Given the description of an element on the screen output the (x, y) to click on. 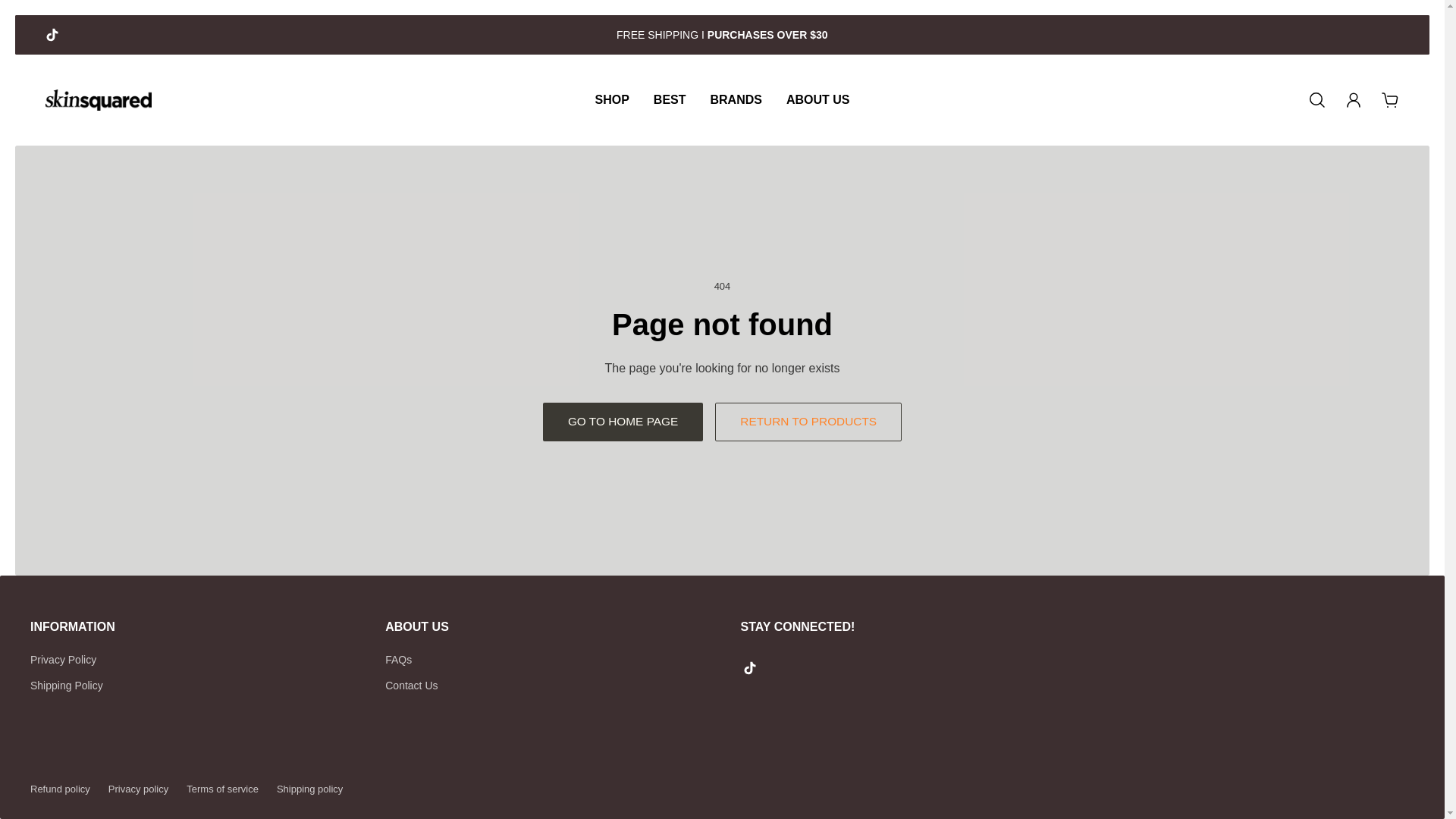
Shipping Policy (66, 685)
Refund policy (60, 789)
GO TO HOME PAGE (623, 421)
Privacy Policy (66, 659)
SHOP (611, 99)
Skip to content (24, 21)
FAQs (411, 659)
BRANDS (735, 99)
Contact Us (411, 685)
ABOUT US (817, 99)
BEST (670, 99)
Privacy policy (137, 789)
RETURN TO PRODUCTS (807, 421)
Shipping policy (309, 789)
Terms of service (222, 789)
